Given the description of an element on the screen output the (x, y) to click on. 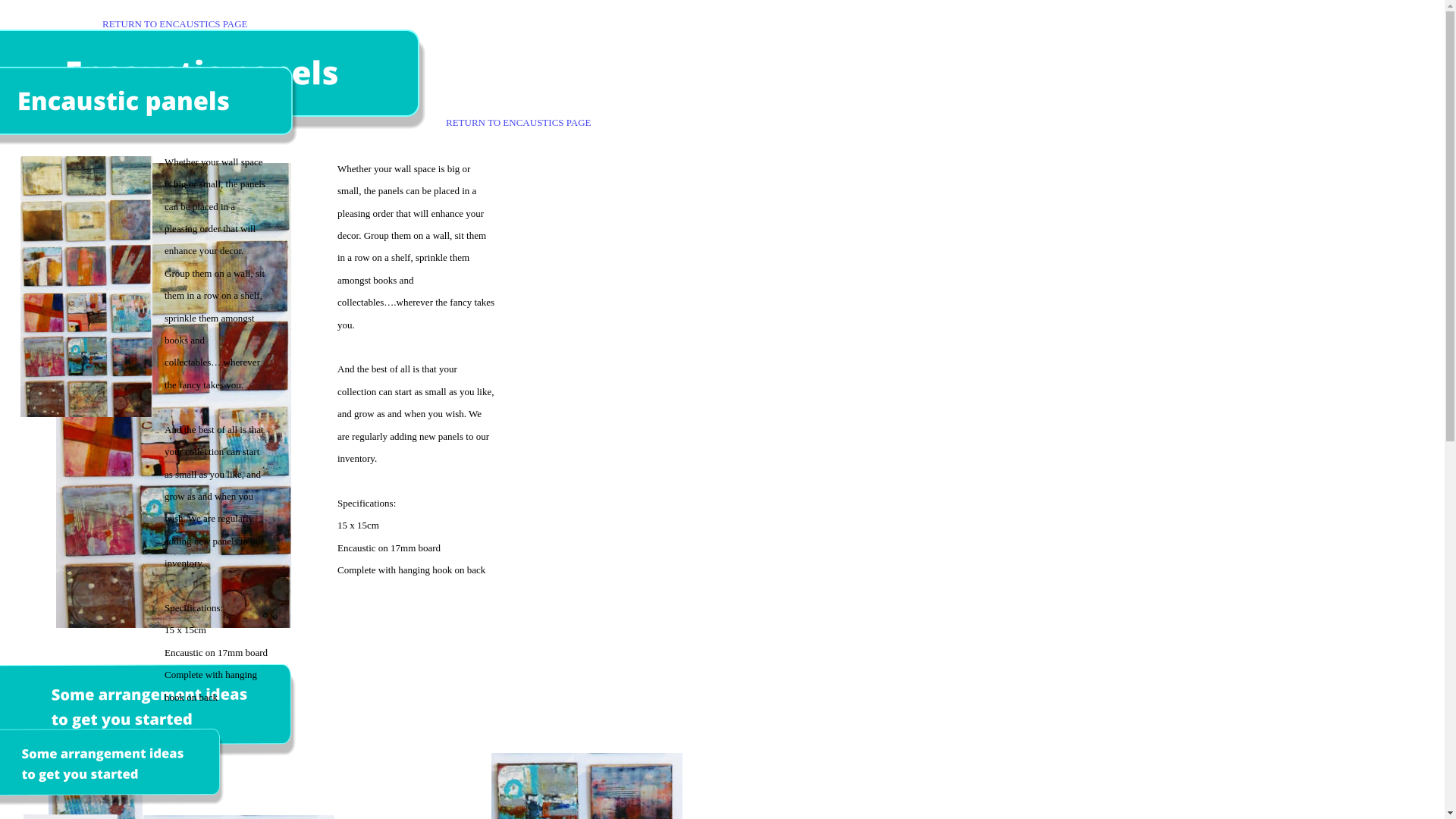
RETURN TO ENCAUSTICS PAGE Element type: text (518, 122)
RETURN TO ENCAUSTICS PAGE Element type: text (174, 23)
